Given the description of an element on the screen output the (x, y) to click on. 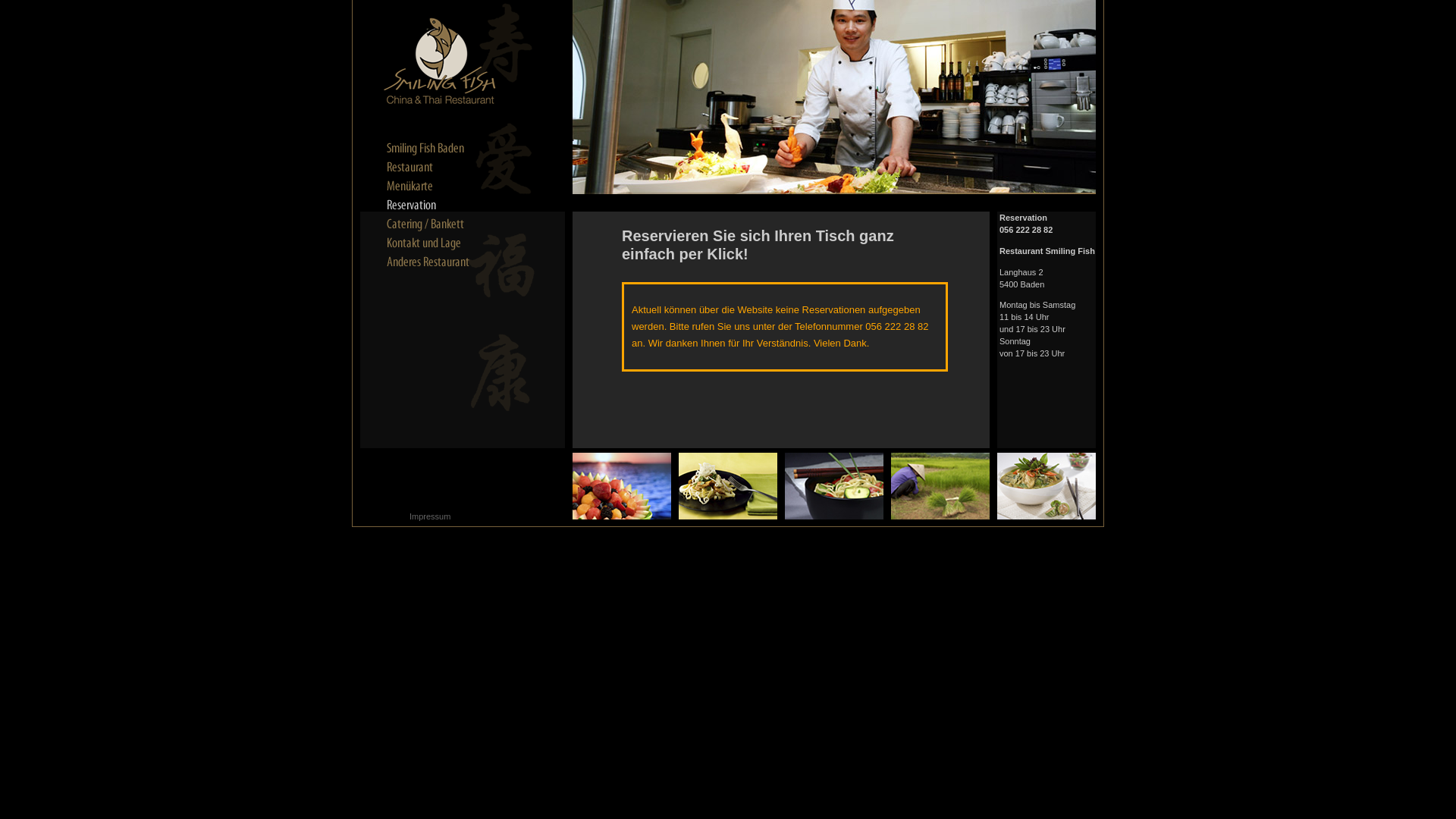
Menukarte Element type: hover (439, 186)
Smiling Fish Baden Element type: hover (439, 148)
Reservation Element type: hover (439, 205)
Impressum Element type: text (429, 516)
Kontakt und Lage Element type: hover (439, 243)
Anderes Restaurant Element type: hover (439, 261)
Bankett Element type: hover (439, 224)
Restaurant Element type: hover (439, 167)
